Given the description of an element on the screen output the (x, y) to click on. 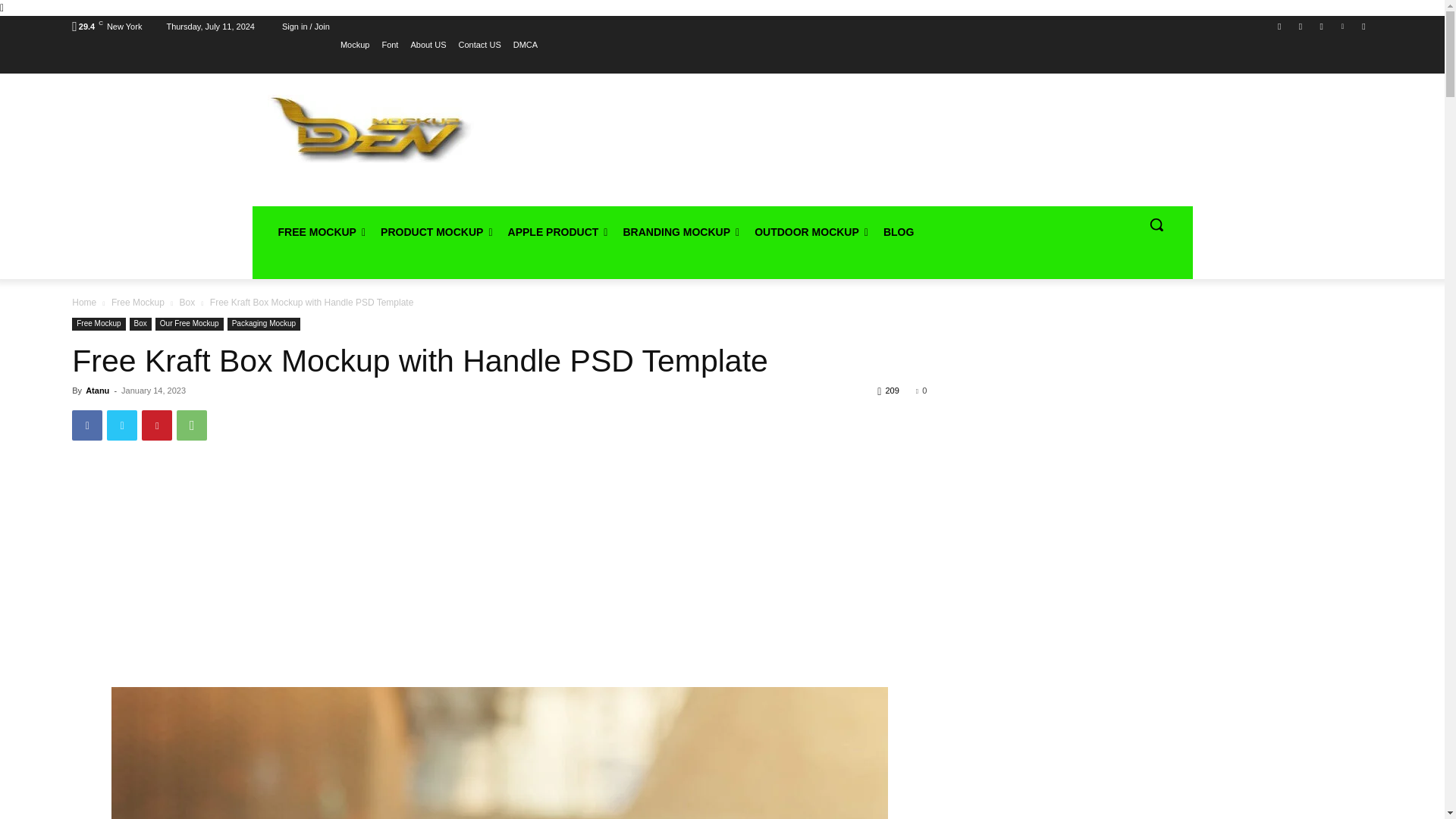
WhatsApp (191, 425)
Youtube (1364, 27)
View all posts in Free Mockup (138, 302)
DMCA (525, 44)
Facebook (86, 425)
Twitter (1321, 27)
Mockup (354, 44)
Facebook (1279, 27)
Font (389, 44)
Instagram (1300, 27)
Twitter (121, 425)
Advertisement (827, 144)
Vimeo (1342, 27)
View all posts in Box (187, 302)
Pinterest (156, 425)
